Given the description of an element on the screen output the (x, y) to click on. 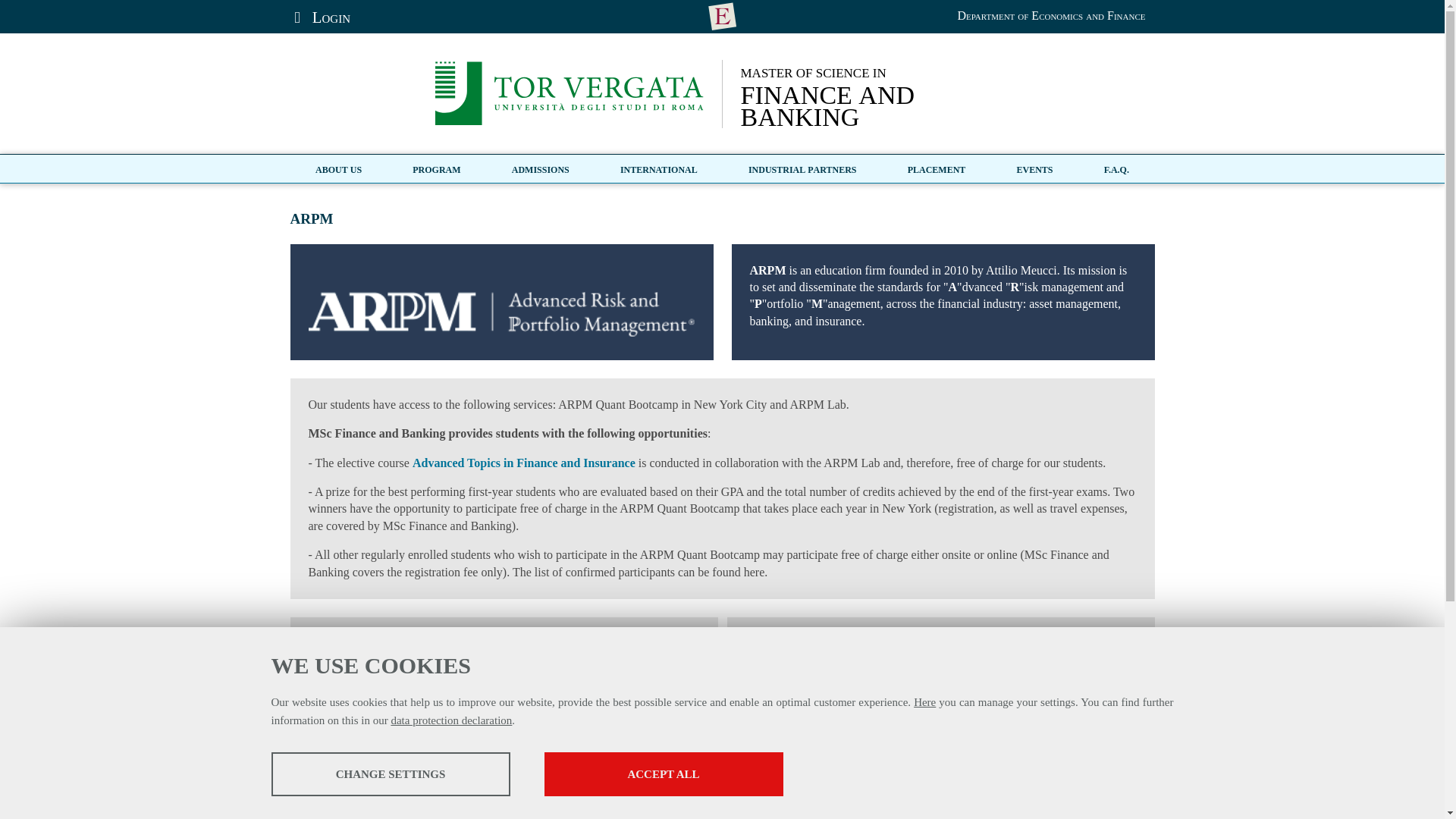
Here (883, 93)
ACCEPT ALL (925, 702)
CHANGE SETTINGS (663, 774)
data protection declaration (390, 774)
Department of Economics and Finance (451, 720)
School of Economics (1050, 15)
